Given the description of an element on the screen output the (x, y) to click on. 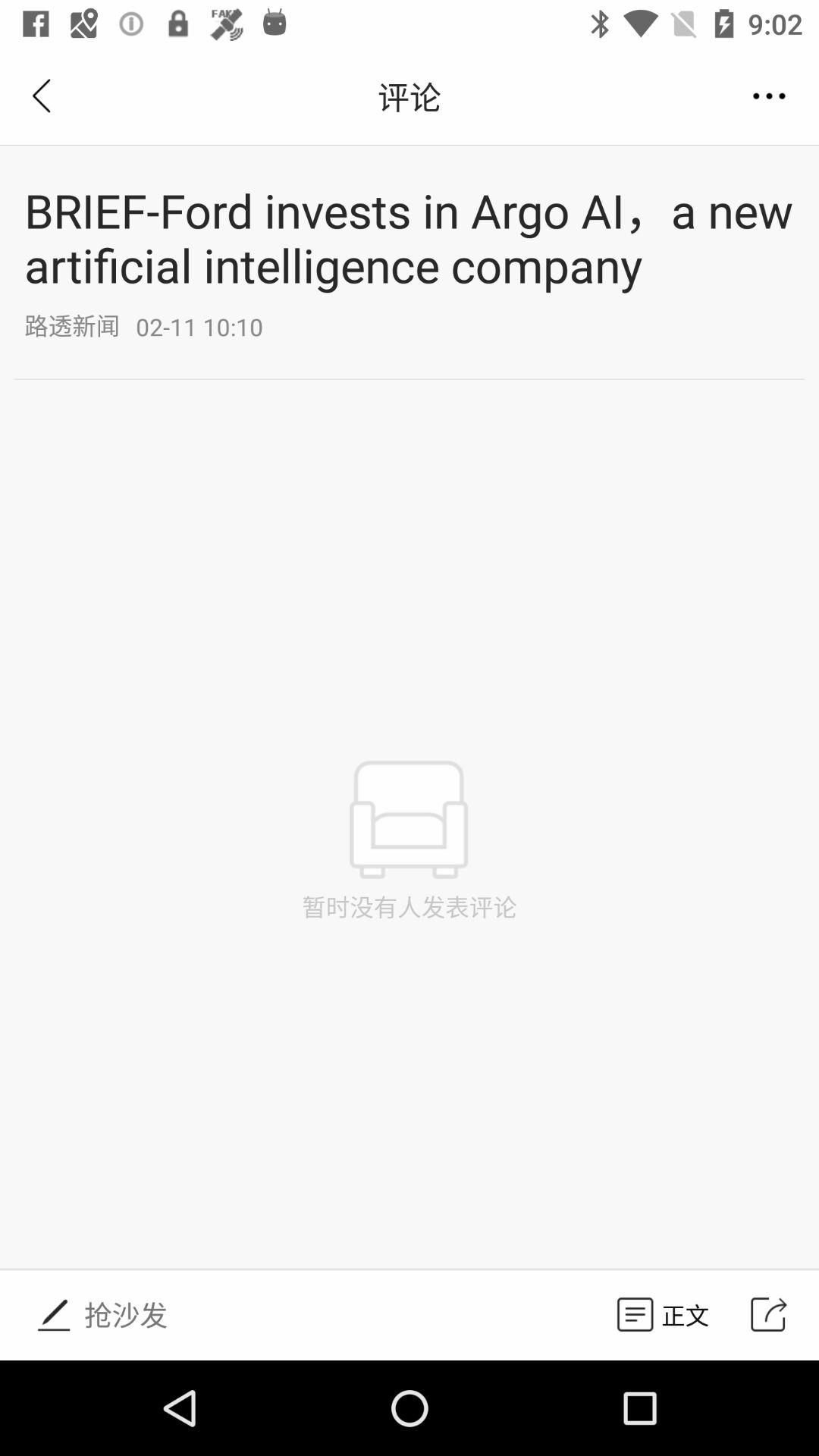
click on the icon at bottom page left corner (54, 1315)
click on the previous button (44, 96)
click on the button under 902 (769, 96)
